Given the description of an element on the screen output the (x, y) to click on. 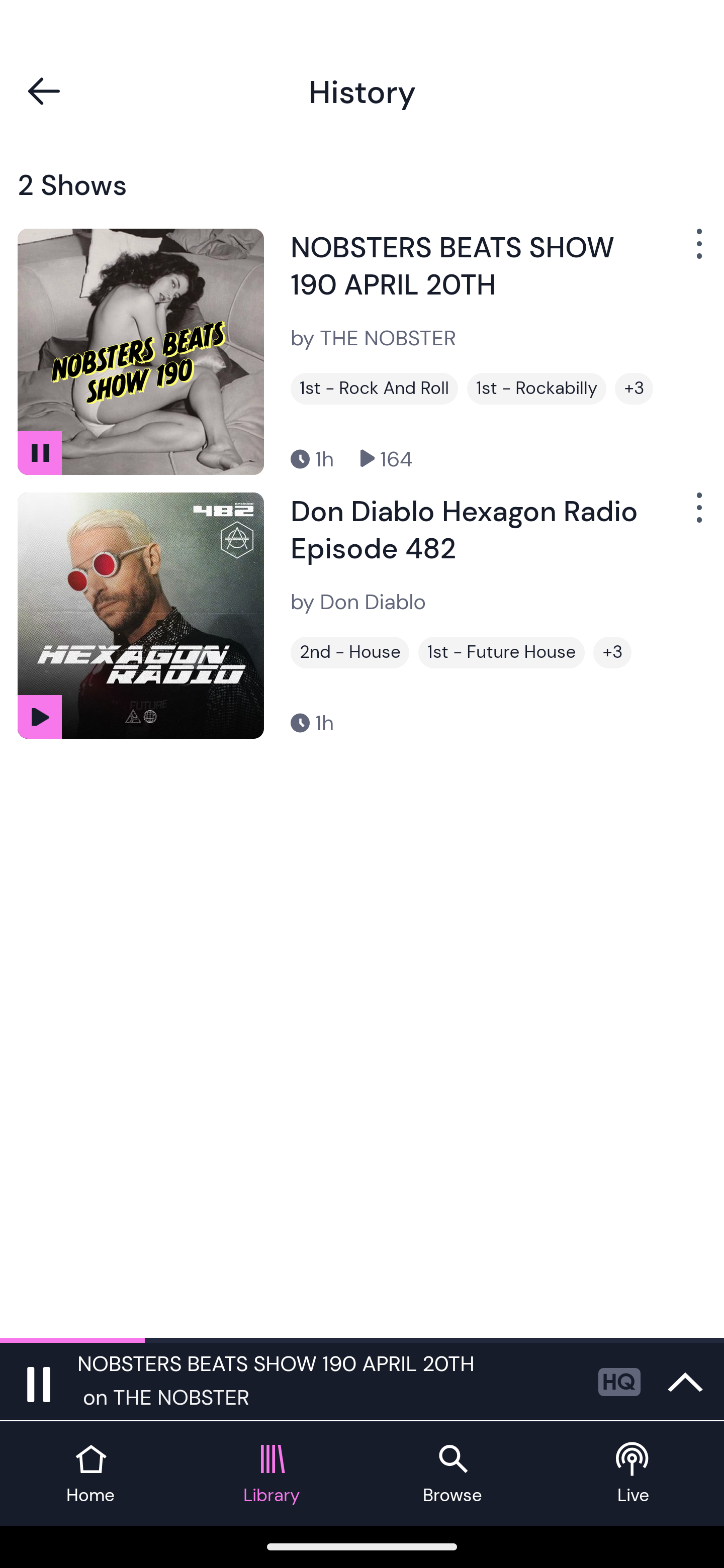
Show Options Menu Button (697, 251)
1st - Rock And Roll (374, 388)
1st - Rockabilly (536, 388)
Show Options Menu Button (697, 514)
2nd - House (349, 651)
1st - Future House (501, 651)
Home tab Home (90, 1473)
Library tab Library (271, 1473)
Browse tab Browse (452, 1473)
Live tab Live (633, 1473)
